Given the description of an element on the screen output the (x, y) to click on. 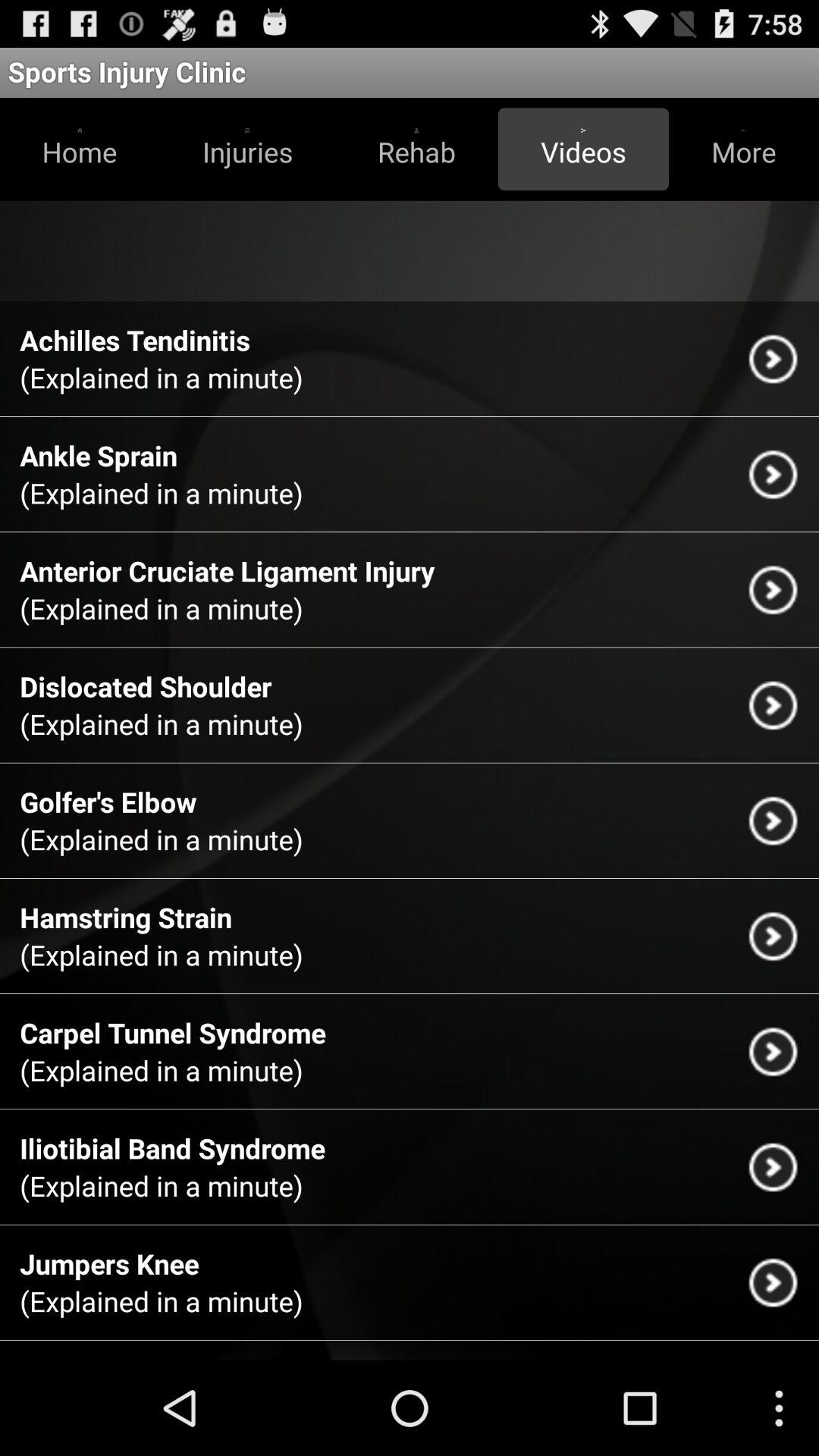
tap icon to the right of the explained in a app (773, 358)
